Given the description of an element on the screen output the (x, y) to click on. 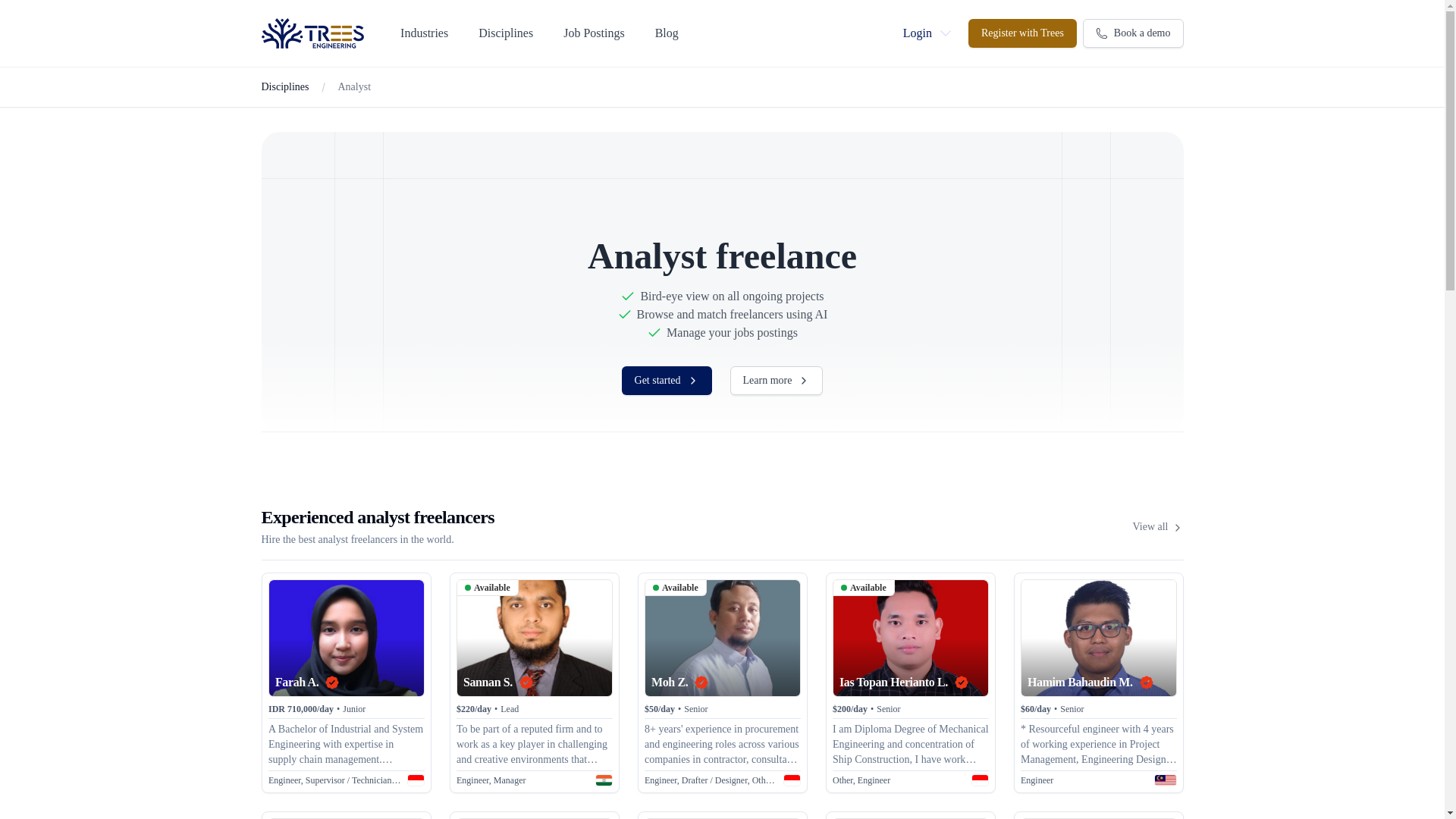
Analyst (354, 86)
Job Postings (593, 32)
Industries (424, 32)
View all (1157, 525)
Get started (666, 380)
Blog (666, 32)
Learn more (777, 380)
Register with Trees (1022, 32)
Trees Engineering (312, 33)
Disciplines (284, 87)
